Given the description of an element on the screen output the (x, y) to click on. 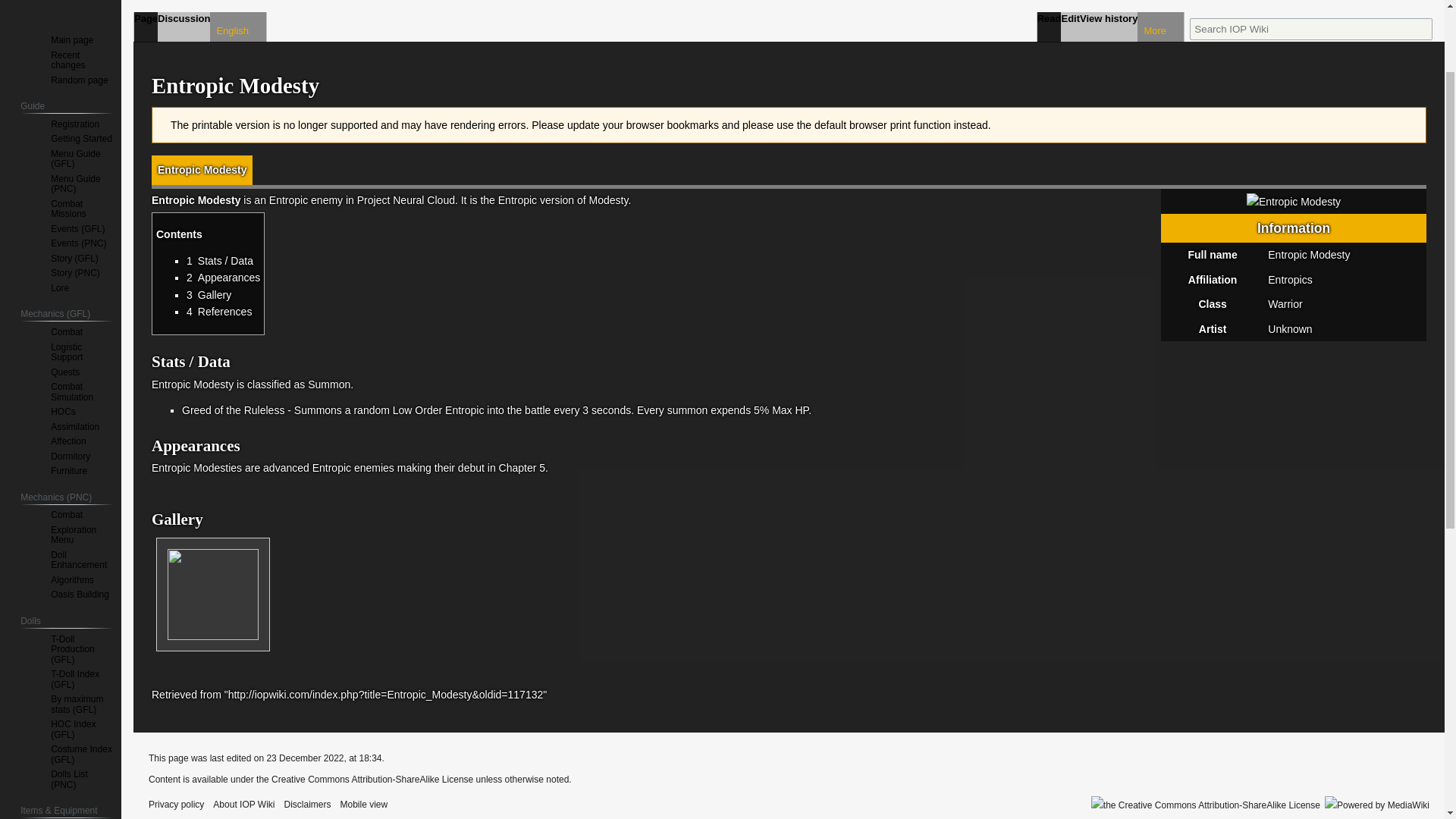
3 Gallery (208, 295)
Entropics (1289, 279)
Search (1420, 28)
Discussion (183, 27)
Go (1420, 28)
Entropic (288, 200)
Main page (71, 40)
Registration (74, 123)
Modesty (608, 200)
